Given the description of an element on the screen output the (x, y) to click on. 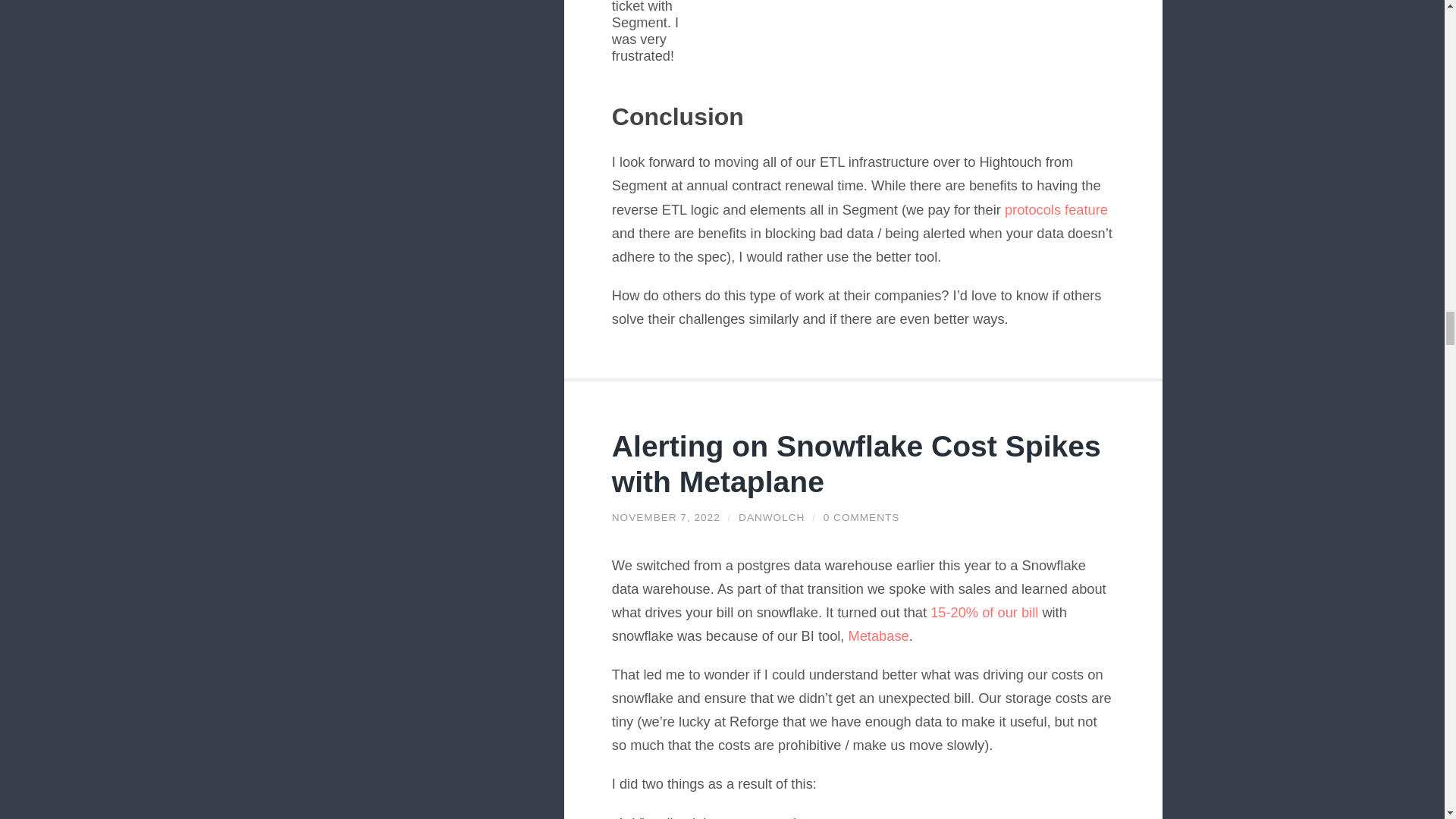
Posts by danwolch (771, 517)
Alerting on Snowflake Cost Spikes with Metaplane (665, 517)
Alerting on Snowflake Cost Spikes with Metaplane (855, 463)
